Given the description of an element on the screen output the (x, y) to click on. 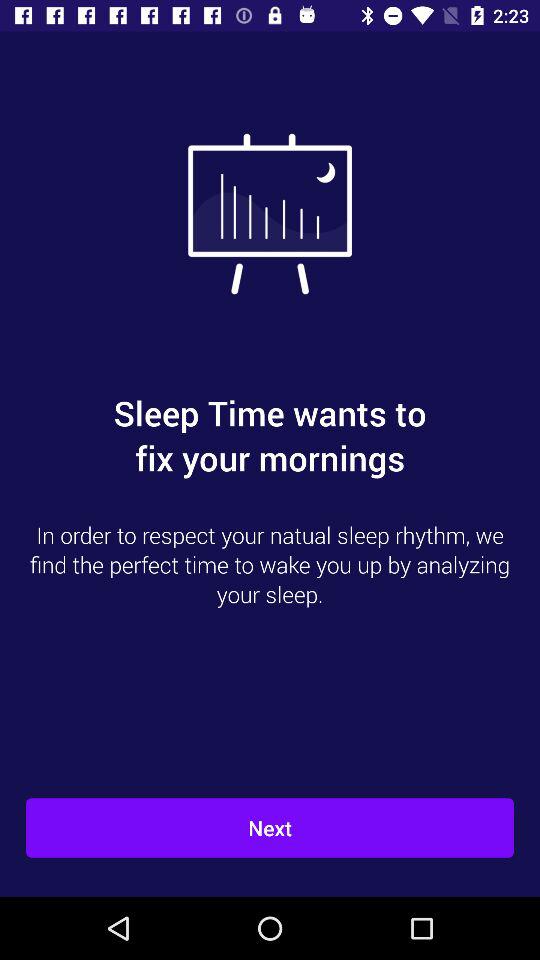
turn off the next item (269, 827)
